Given the description of an element on the screen output the (x, y) to click on. 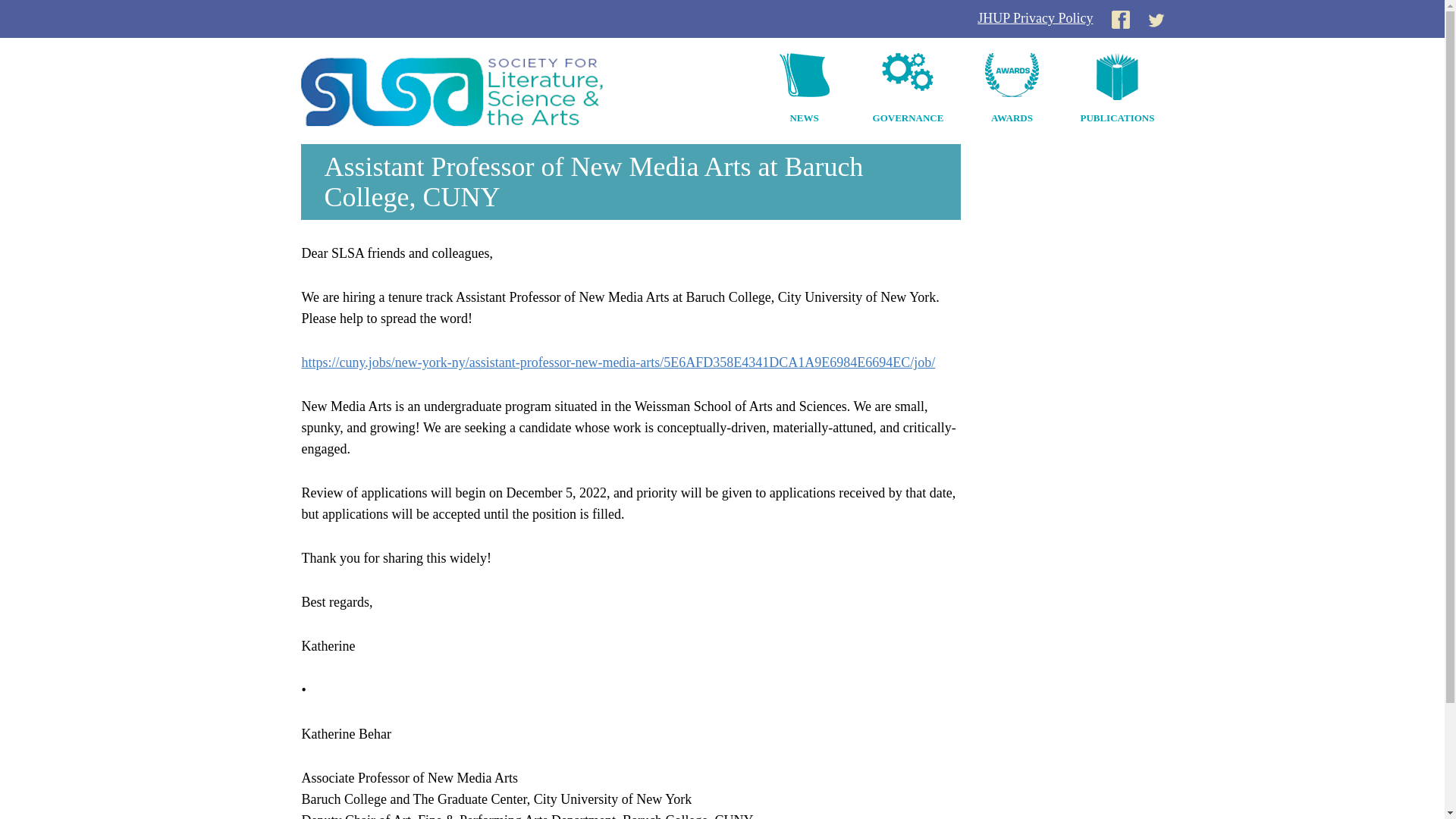
AWARDS (1011, 90)
Follow us on Twitter (1156, 17)
GOVERNANCE (908, 90)
NEWS (804, 90)
Return to the homepage (481, 89)
JHUP Privacy Policy (1034, 17)
PUBLICATIONS (1117, 90)
Society for Literature, Science, and the Arts (481, 90)
Find us on Facebook (1120, 17)
